Given the description of an element on the screen output the (x, y) to click on. 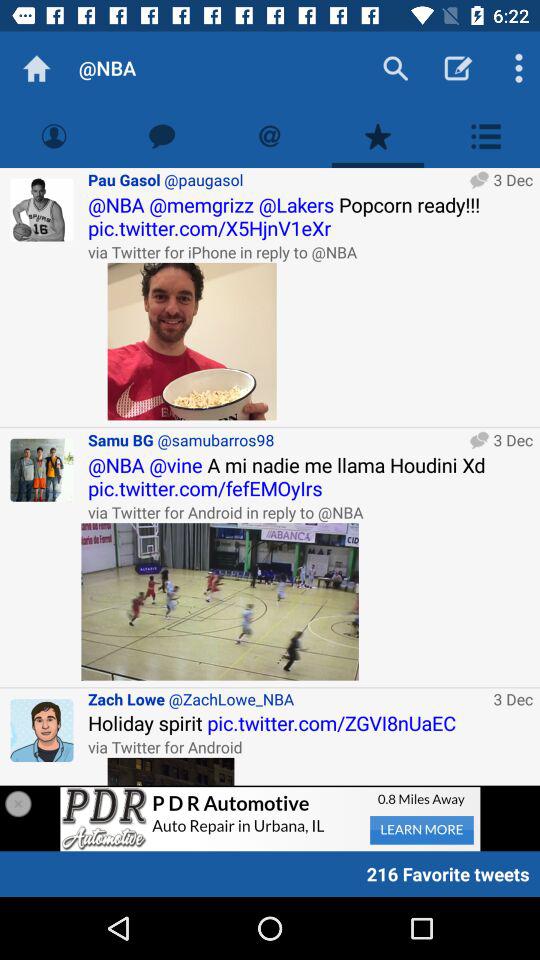
open poster 's profile (41, 209)
